Given the description of an element on the screen output the (x, y) to click on. 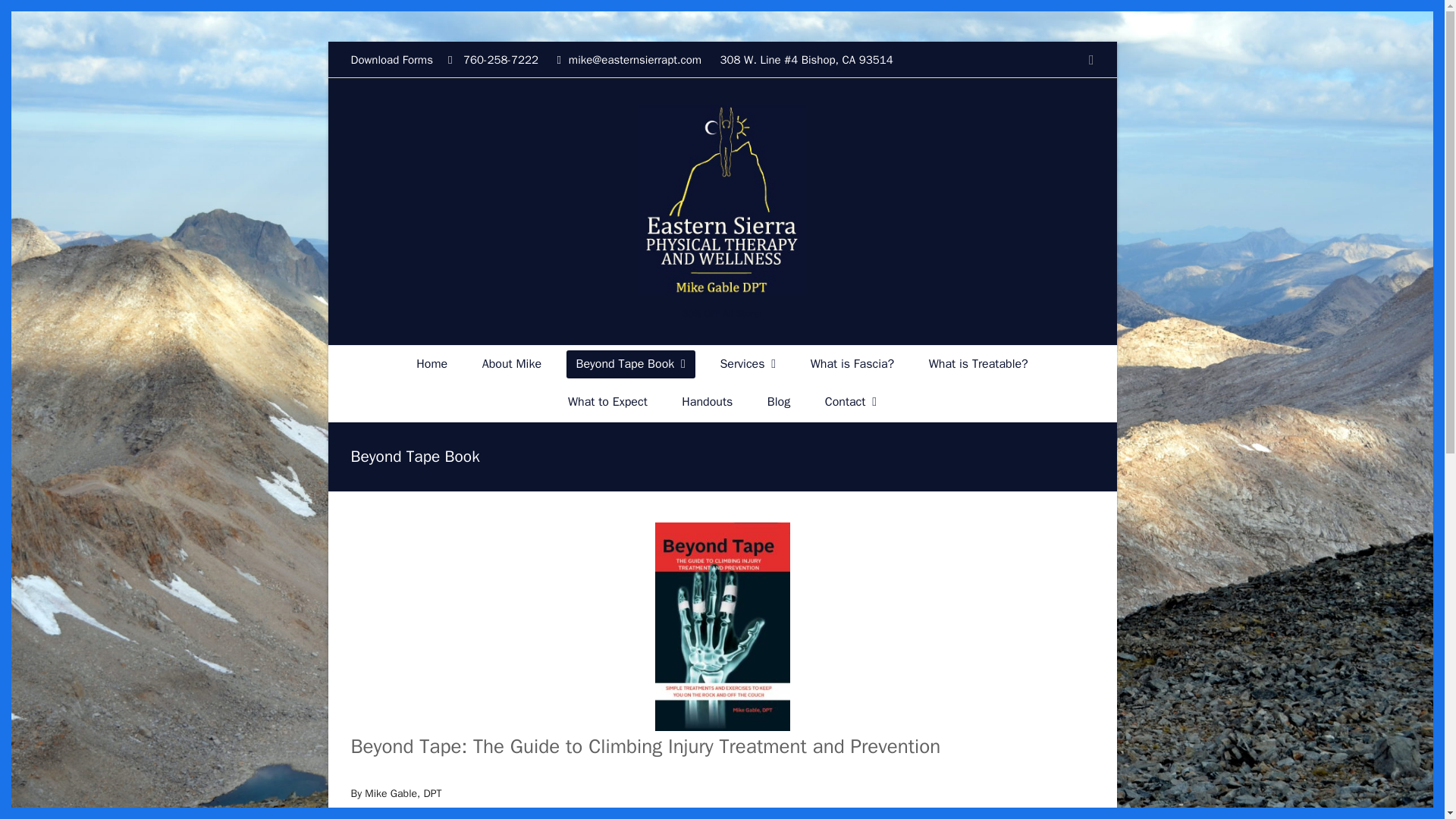
Download Forms (391, 59)
Home (431, 364)
About Mike Gable, DPT (511, 364)
Beyond Tape Book (630, 364)
About Mike (511, 364)
Bishop California Physical Therapy Services (748, 364)
Services (748, 364)
760-258-7222 (498, 59)
